Given the description of an element on the screen output the (x, y) to click on. 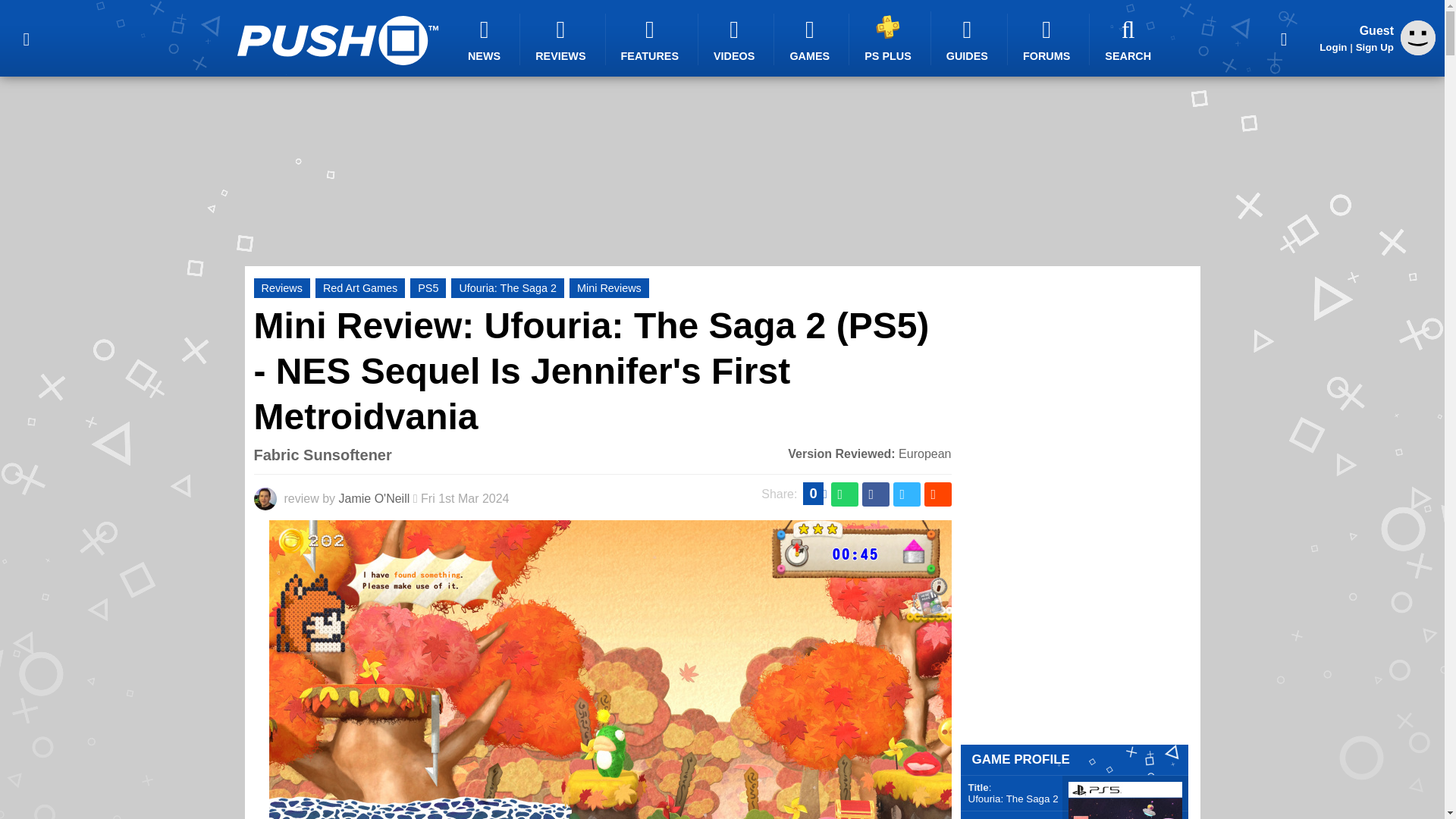
GUIDES (969, 39)
Share this on WhatsApp (845, 494)
Share this on Reddit (936, 494)
Push Square (336, 40)
Ufouria: The Saga 2 (507, 288)
Guest (1417, 51)
Menu (26, 37)
Reviews (280, 288)
NEWS (485, 39)
REVIEWS (562, 39)
Guest (1417, 37)
PS5 (427, 288)
Share this on Facebook (874, 494)
FEATURES (651, 39)
Login (1332, 47)
